Given the description of an element on the screen output the (x, y) to click on. 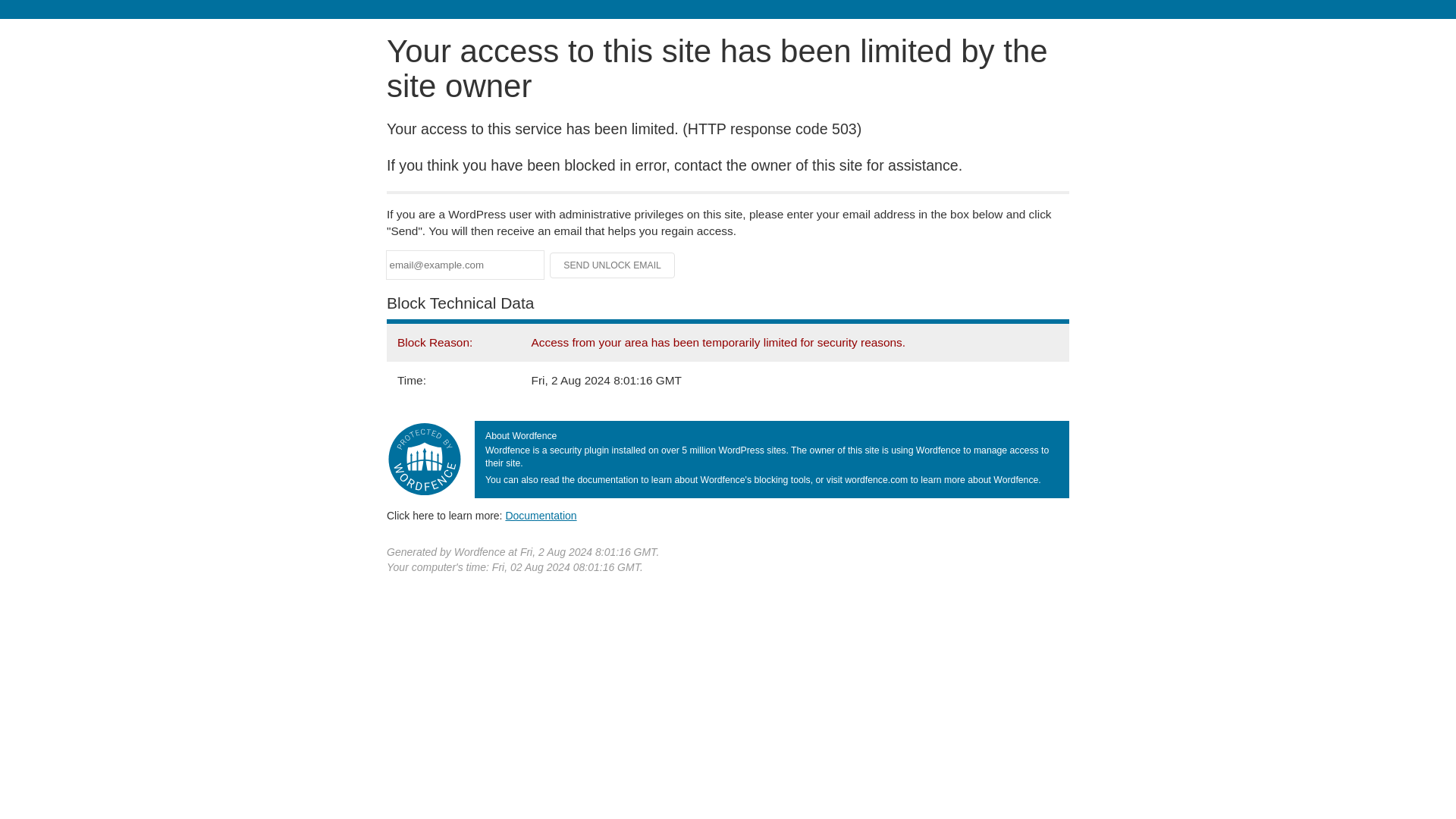
Send Unlock Email (612, 265)
Send Unlock Email (612, 265)
Documentation (540, 515)
